Given the description of an element on the screen output the (x, y) to click on. 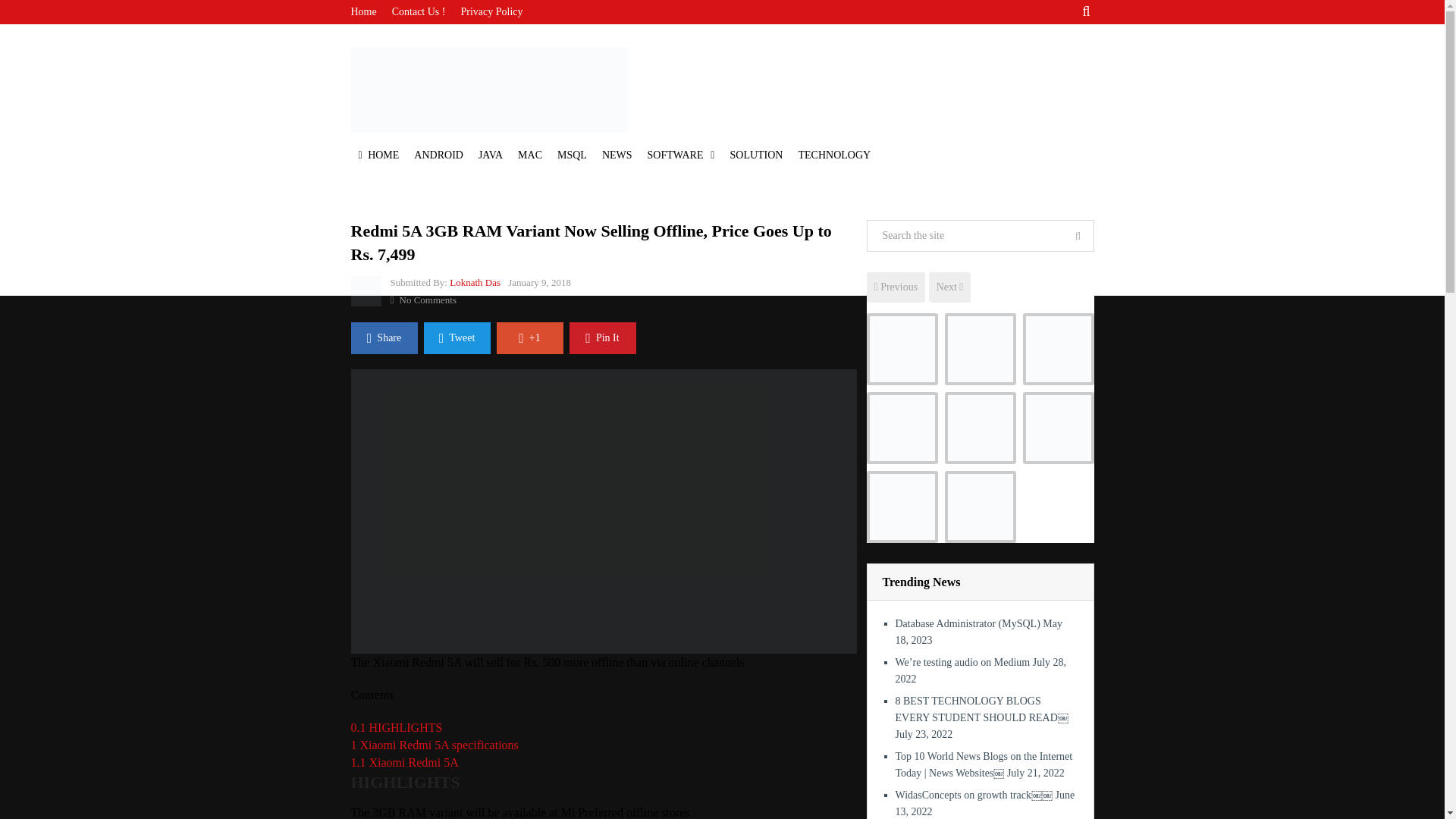
MSQL (572, 155)
Next (949, 286)
Tweet (456, 337)
Posts by Loknath Das (474, 282)
SOLUTION (756, 155)
Contact Us ! (418, 12)
TECHNOLOGY (833, 155)
Previous (895, 286)
Pin It (601, 337)
Privacy Policy (490, 12)
NEWS (617, 155)
1 Xiaomi Redmi 5A specifications (434, 744)
SOFTWARE (681, 155)
0.1 HIGHLIGHTS (396, 727)
Share (383, 337)
